Given the description of an element on the screen output the (x, y) to click on. 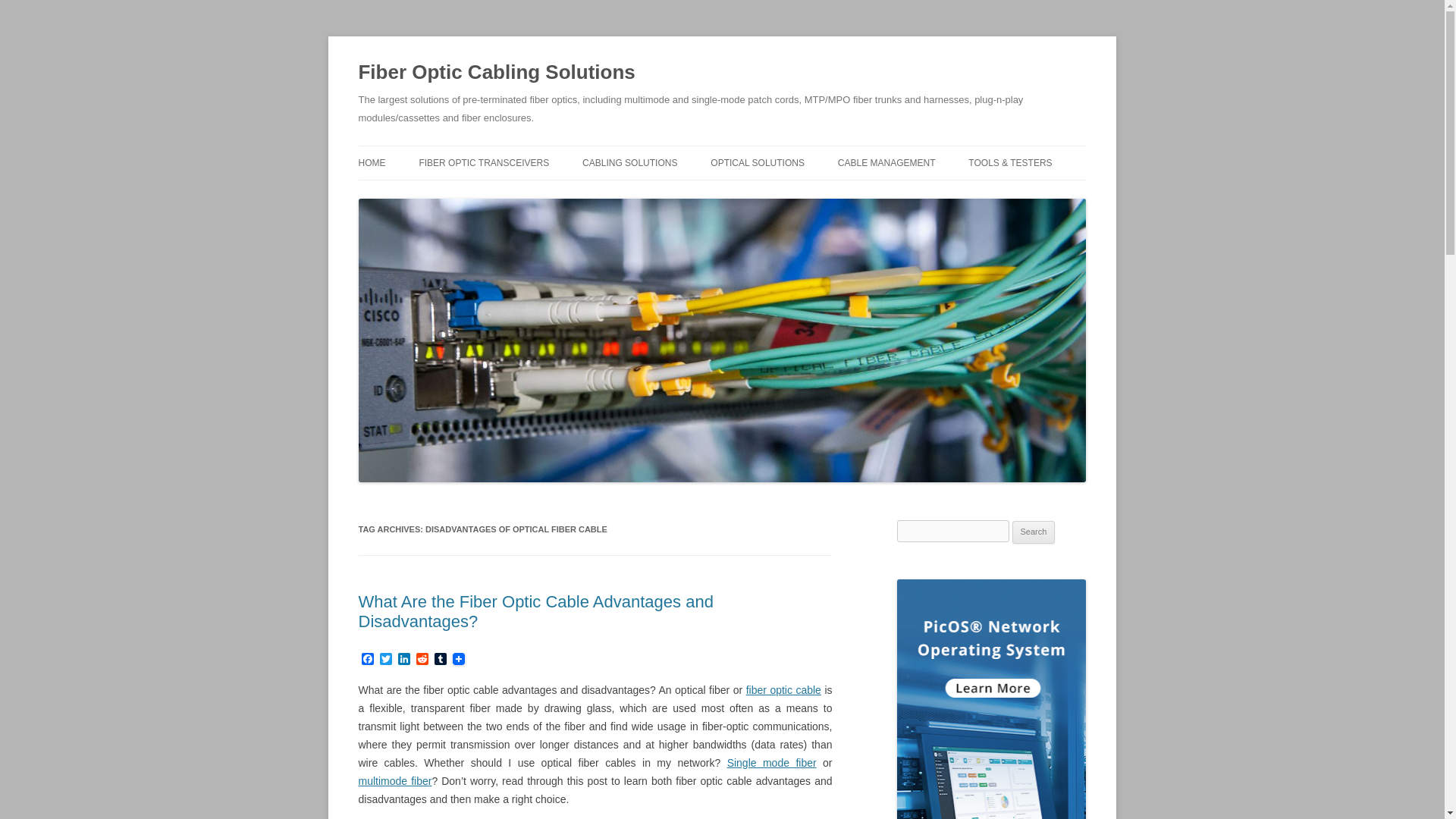
Tumblr (439, 659)
SFP TRANSCEIVER (494, 194)
OPTICAL SOLUTIONS (757, 162)
Reddit (421, 659)
What Are the Fiber Optic Cable Advantages and Disadvantages? (535, 611)
Fiber Optic Cabling Solutions (496, 72)
Twitter (384, 659)
FIBER OPTIC TESTERS (1043, 194)
CABLE MANAGEMENT (887, 162)
Tumblr (439, 659)
